Given the description of an element on the screen output the (x, y) to click on. 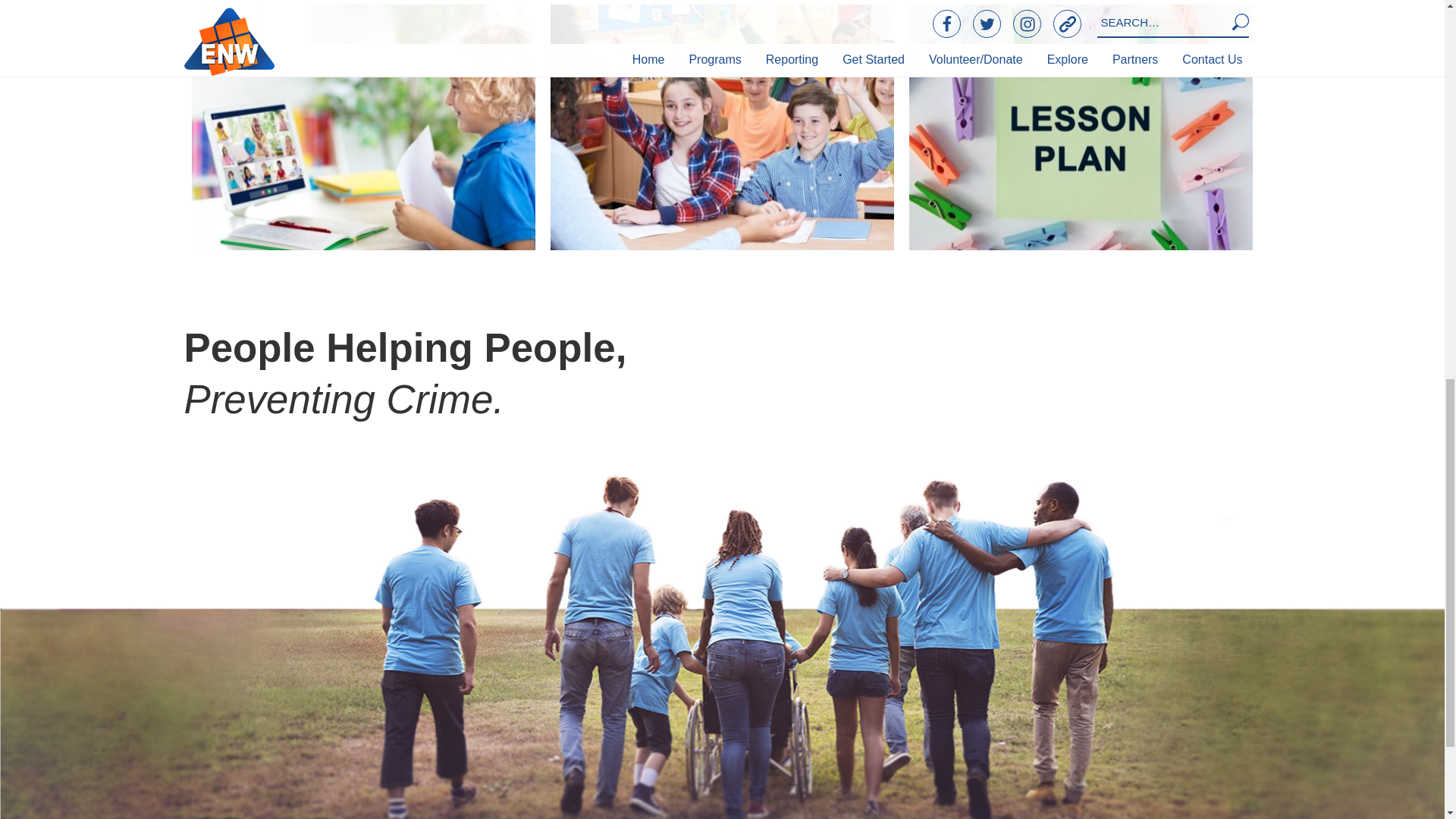
Kids Online Safety Courses (363, 127)
